Given the description of an element on the screen output the (x, y) to click on. 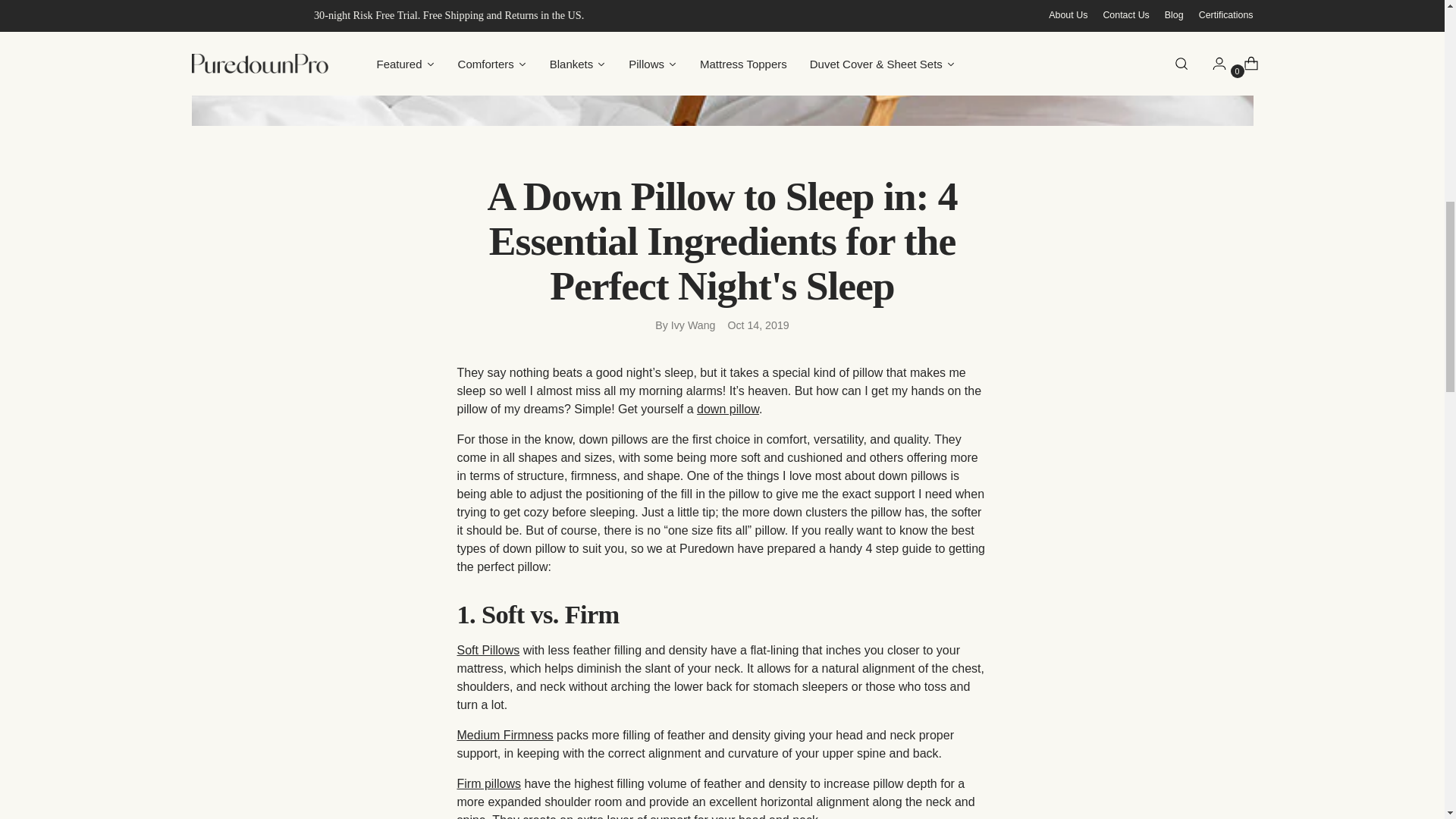
Down Pillows (727, 408)
Down Pillows (488, 649)
Feather Pillows (505, 735)
